Given the description of an element on the screen output the (x, y) to click on. 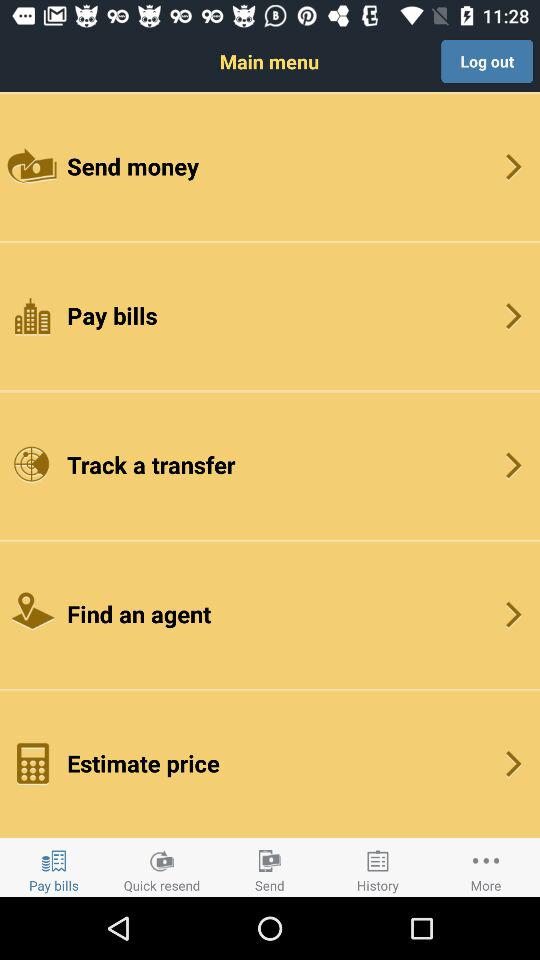
scroll to the log out (487, 61)
